Given the description of an element on the screen output the (x, y) to click on. 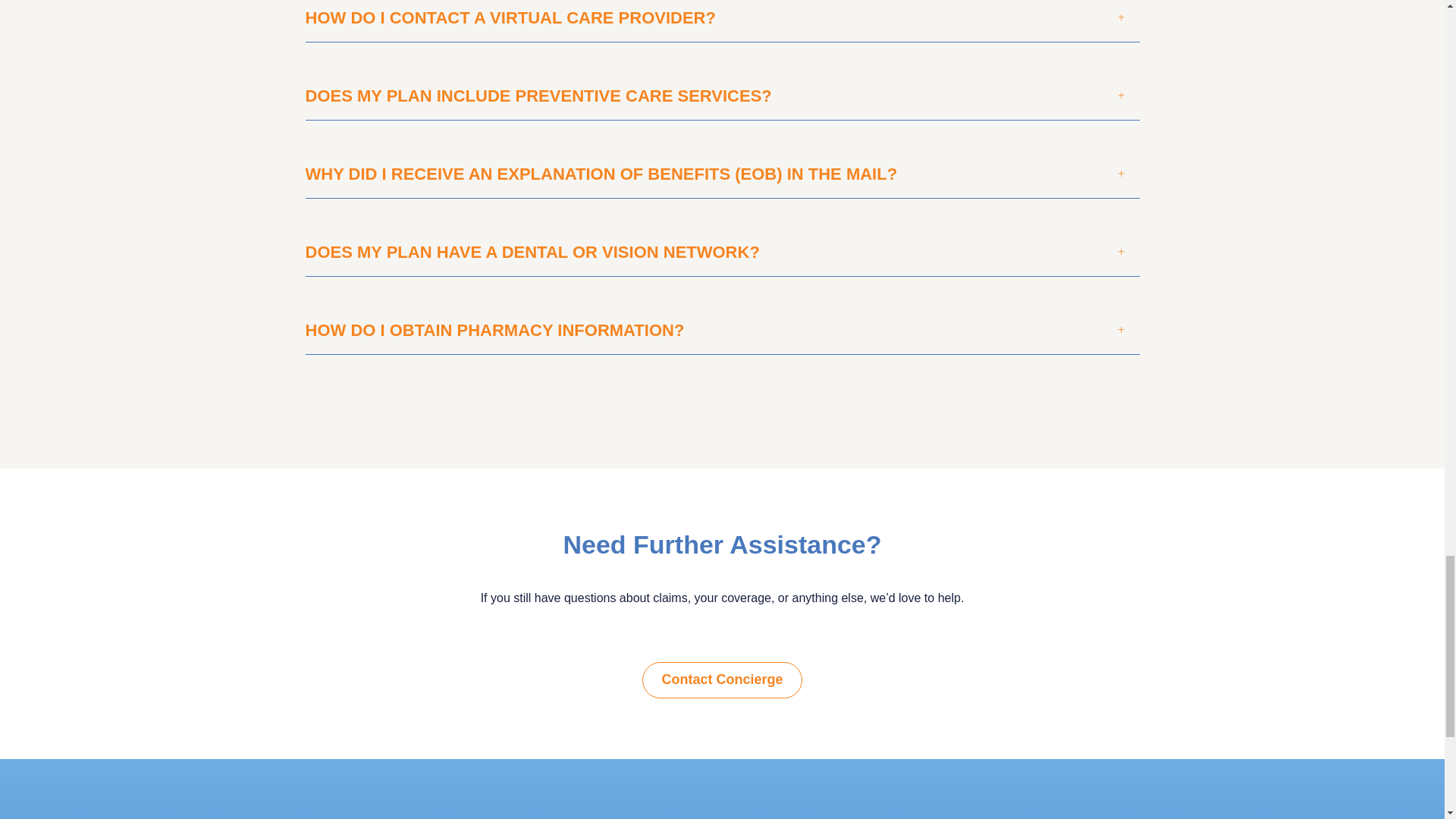
Contact Concierge (722, 679)
